Given the description of an element on the screen output the (x, y) to click on. 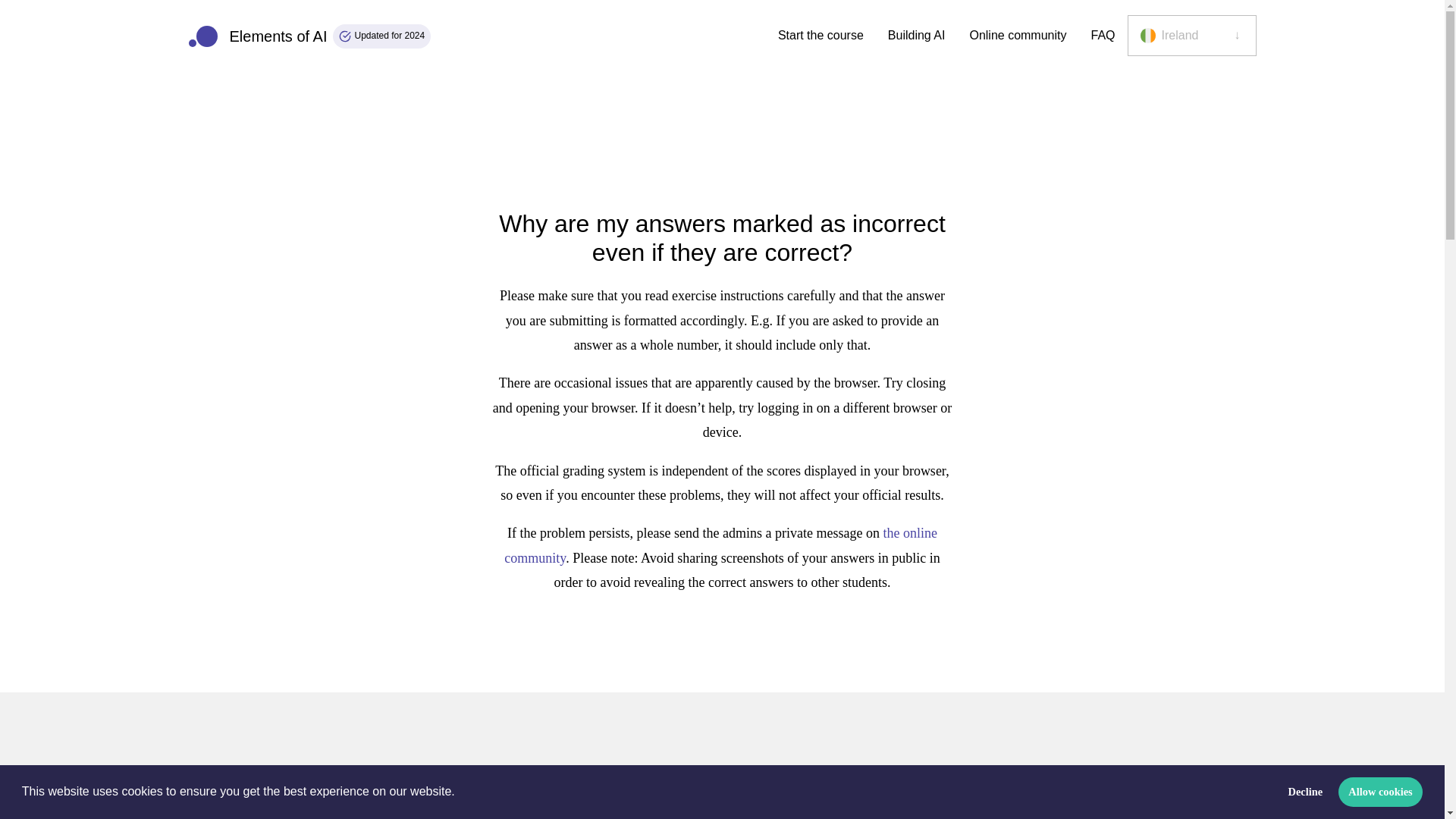
Decline (1305, 791)
Start the course (820, 36)
FAQ (1102, 36)
Allow cookies (1380, 791)
Online community (1017, 36)
Building AI (308, 36)
